Given the description of an element on the screen output the (x, y) to click on. 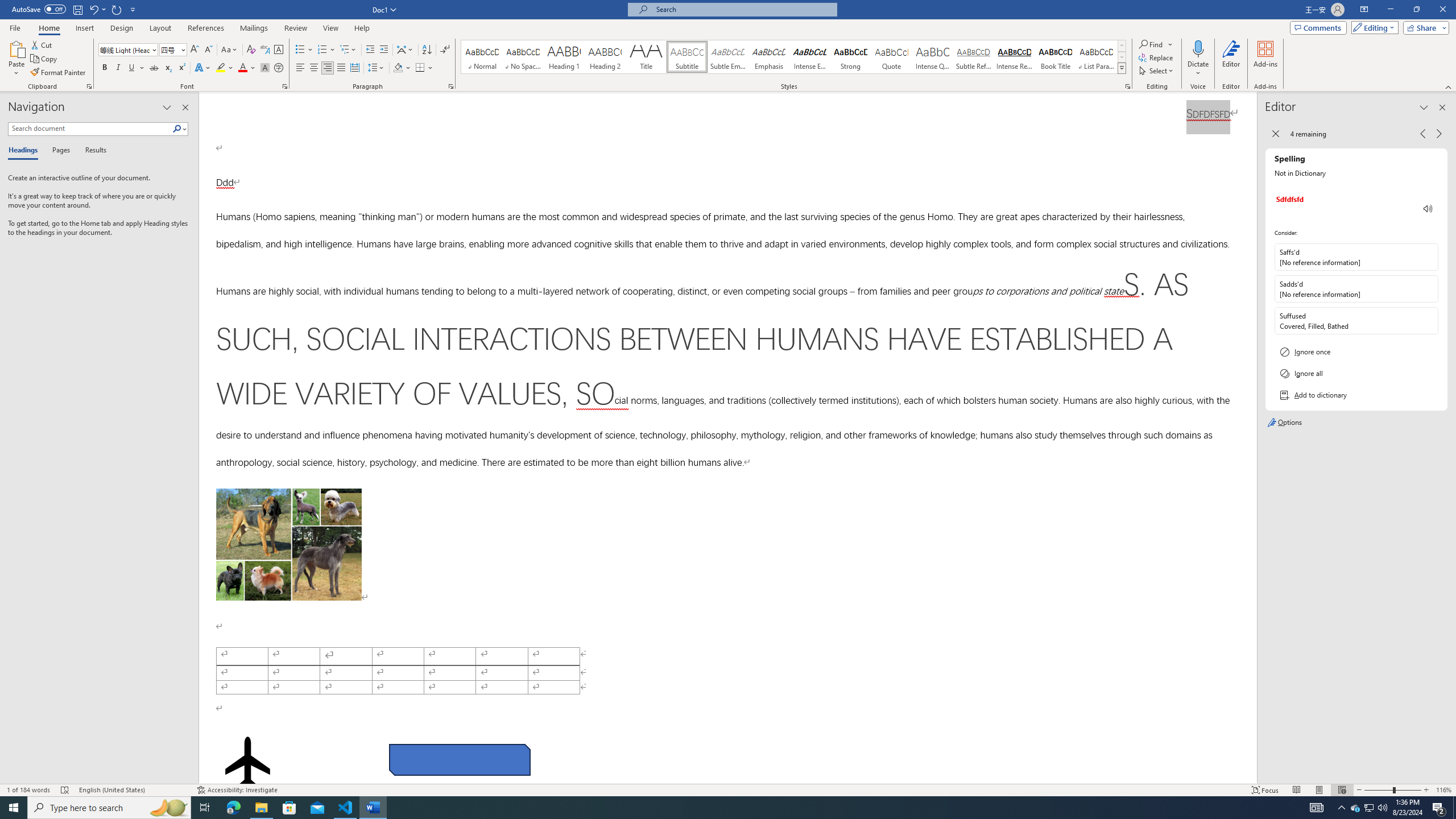
Shading RGB(0, 0, 0) (397, 67)
Web Layout (1342, 790)
File Tab (15, 27)
Sort... (426, 49)
Asian Layout (405, 49)
Emphasis (768, 56)
Grow Font (193, 49)
Show/Hide Editing Marks (444, 49)
Focus  (1265, 790)
Line and Paragraph Spacing (376, 67)
Paragraph... (450, 85)
Subtitle (686, 56)
